Given the description of an element on the screen output the (x, y) to click on. 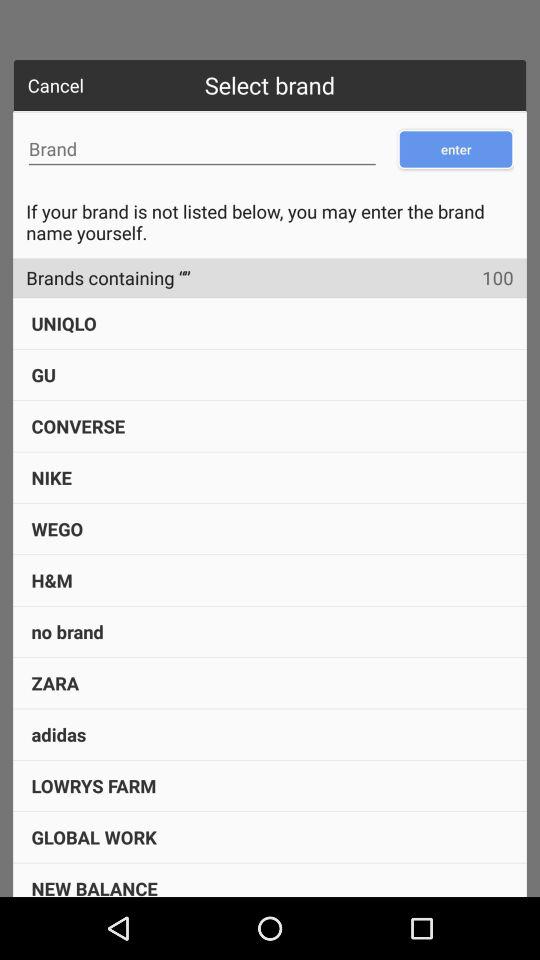
click item below the h&m (67, 631)
